Given the description of an element on the screen output the (x, y) to click on. 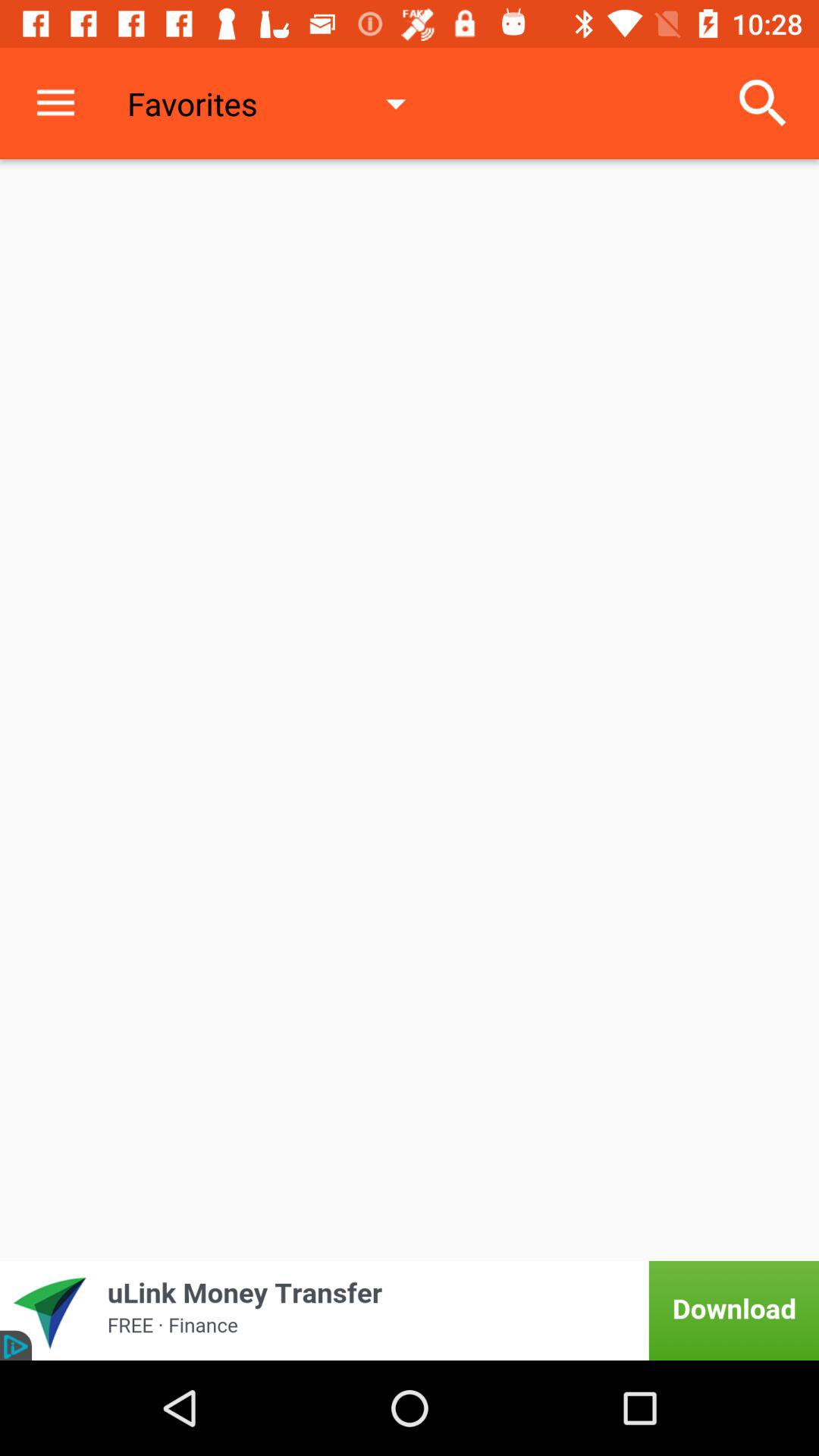
advertisement (409, 1310)
